Given the description of an element on the screen output the (x, y) to click on. 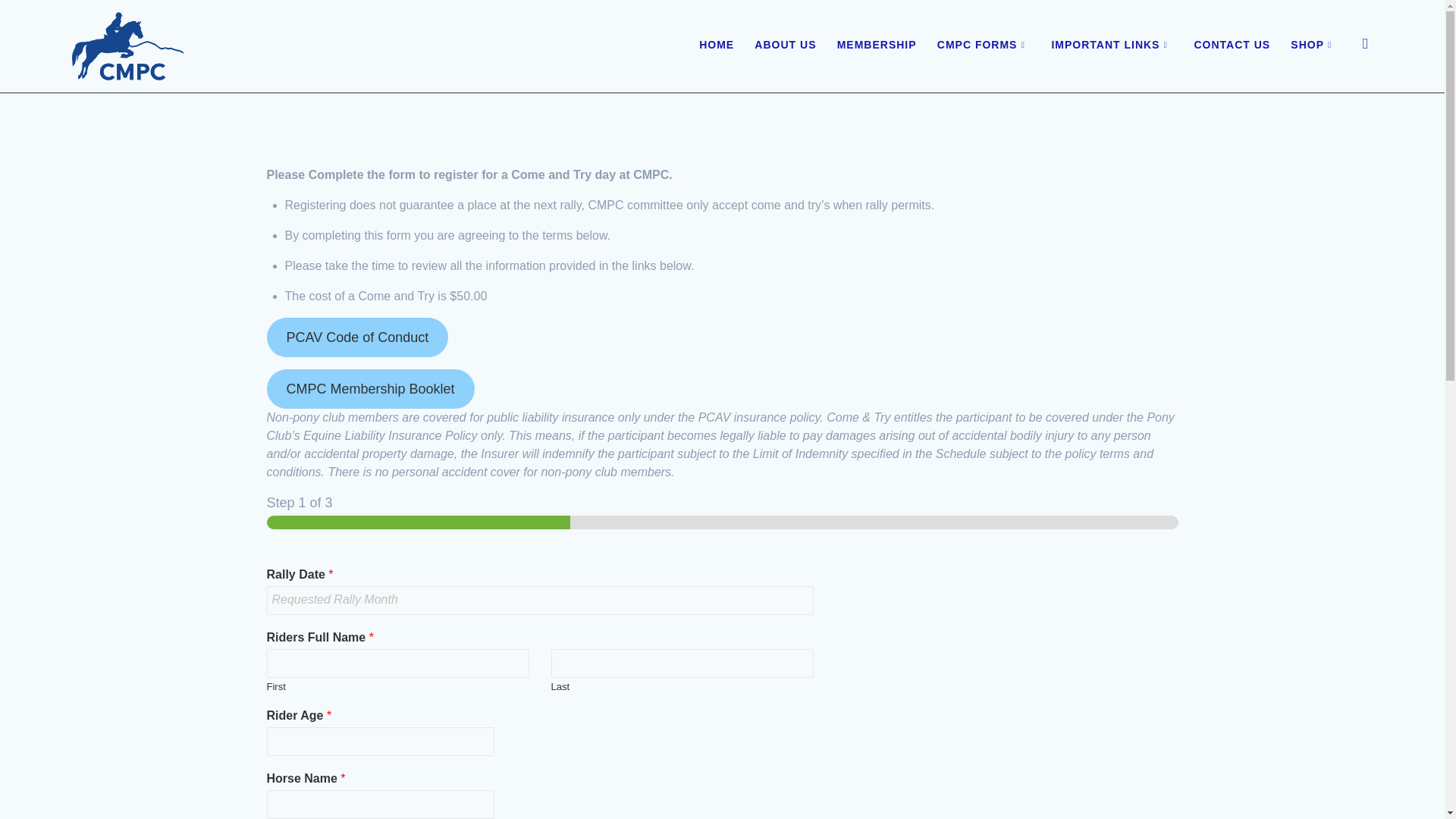
CMPC FORMS (983, 45)
SHOP (1313, 45)
CONTACT US (1231, 45)
IMPORTANT LINKS (1112, 45)
HOME (715, 45)
MEMBERSHIP (877, 45)
ABOUT US (784, 45)
